Given the description of an element on the screen output the (x, y) to click on. 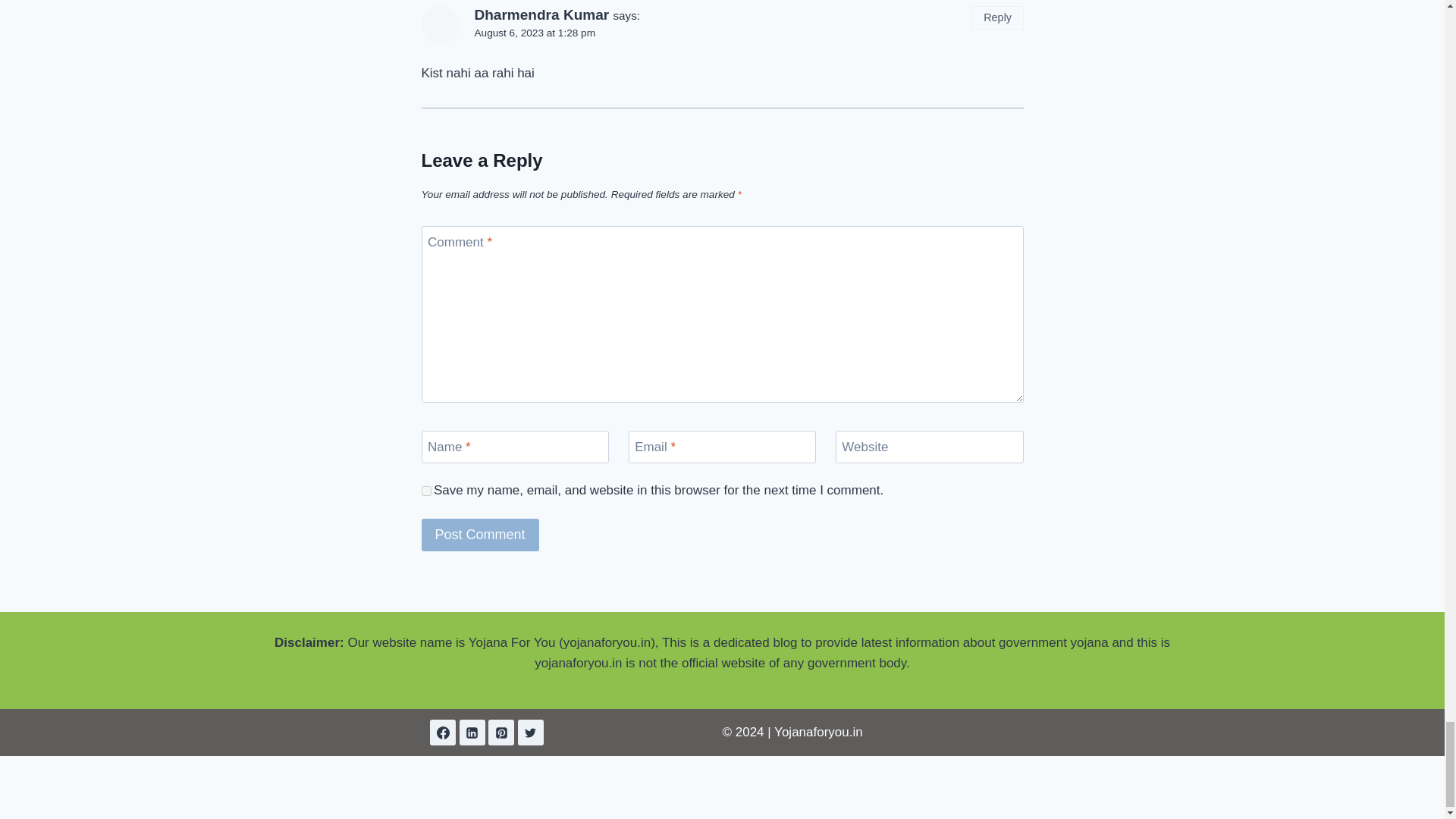
Post Comment (480, 534)
yes (426, 491)
